Given the description of an element on the screen output the (x, y) to click on. 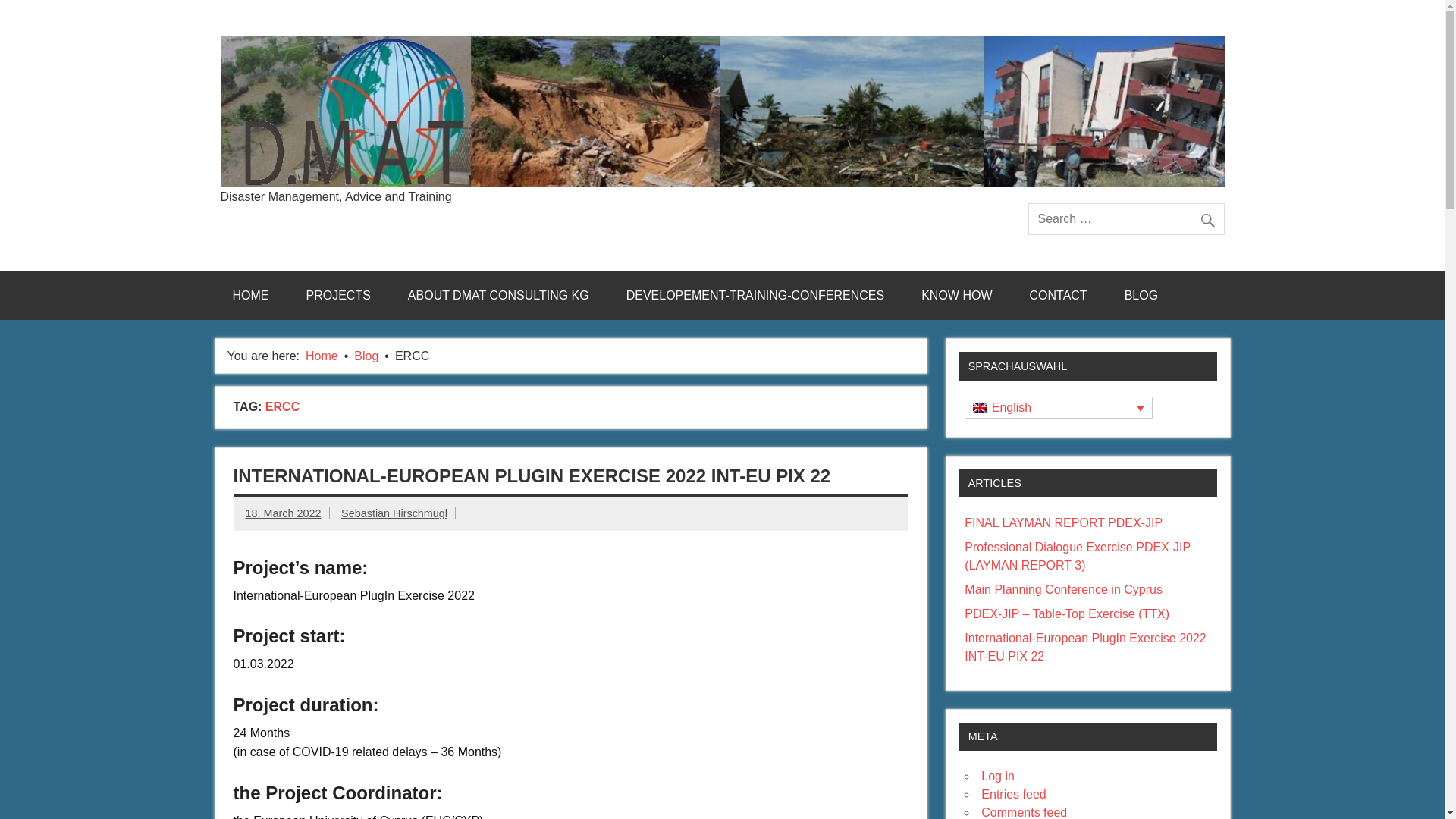
Sebastian Hirschmugl (393, 512)
Home (321, 355)
INTERNATIONAL-EUROPEAN PLUGIN EXERCISE 2022 INT-EU PIX 22 (531, 476)
D.M.A.T. (278, 201)
DEVELOPEMENT-TRAINING-CONFERENCES (755, 295)
View all posts by Sebastian Hirschmugl (393, 512)
International-European PlugIn Exercise 2022 INT-EU PIX 22 (1084, 646)
BLOG (1141, 295)
KNOW HOW (956, 295)
HOME (250, 295)
ABOUT DMAT CONSULTING KG (498, 295)
18. March 2022 (283, 512)
FINAL LAYMAN REPORT PDEX-JIP (1062, 522)
CONTACT (1058, 295)
Blog (365, 355)
